Given the description of an element on the screen output the (x, y) to click on. 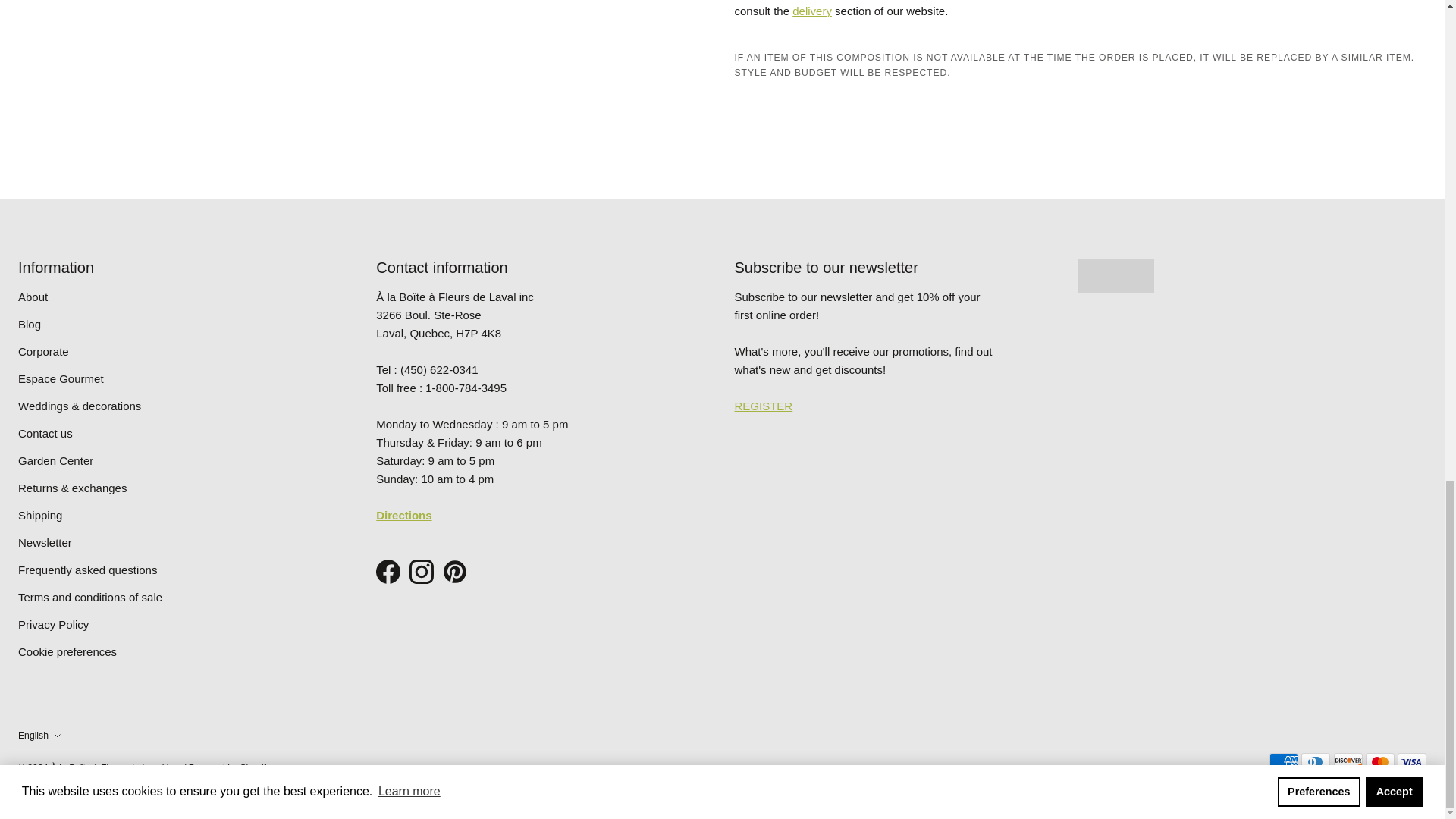
Visa (1411, 761)
Discover (1347, 761)
Diners Club (1315, 761)
American Express (1283, 761)
Mastercard (1379, 761)
